Given the description of an element on the screen output the (x, y) to click on. 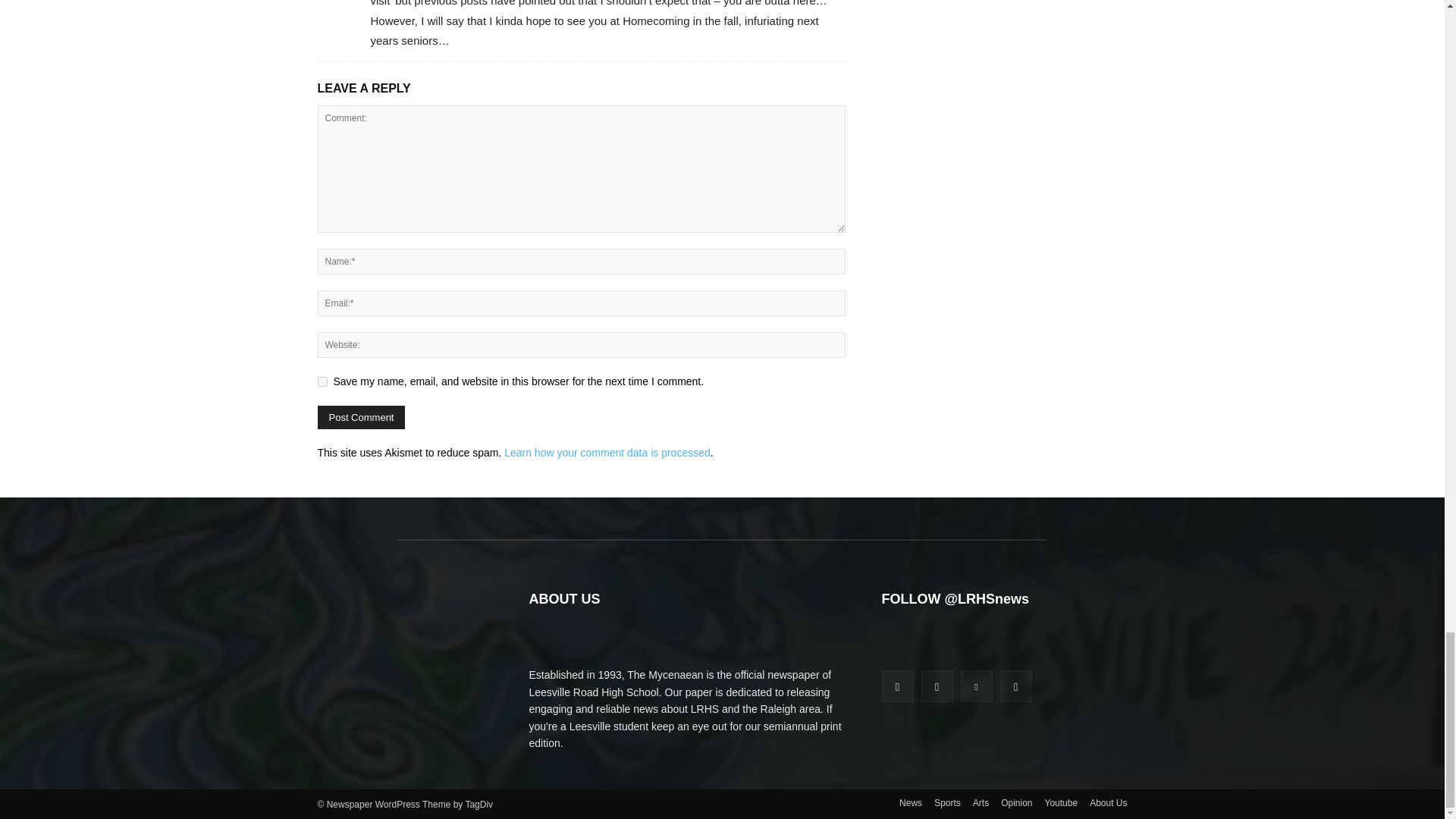
Post Comment (360, 417)
yes (321, 381)
